Given the description of an element on the screen output the (x, y) to click on. 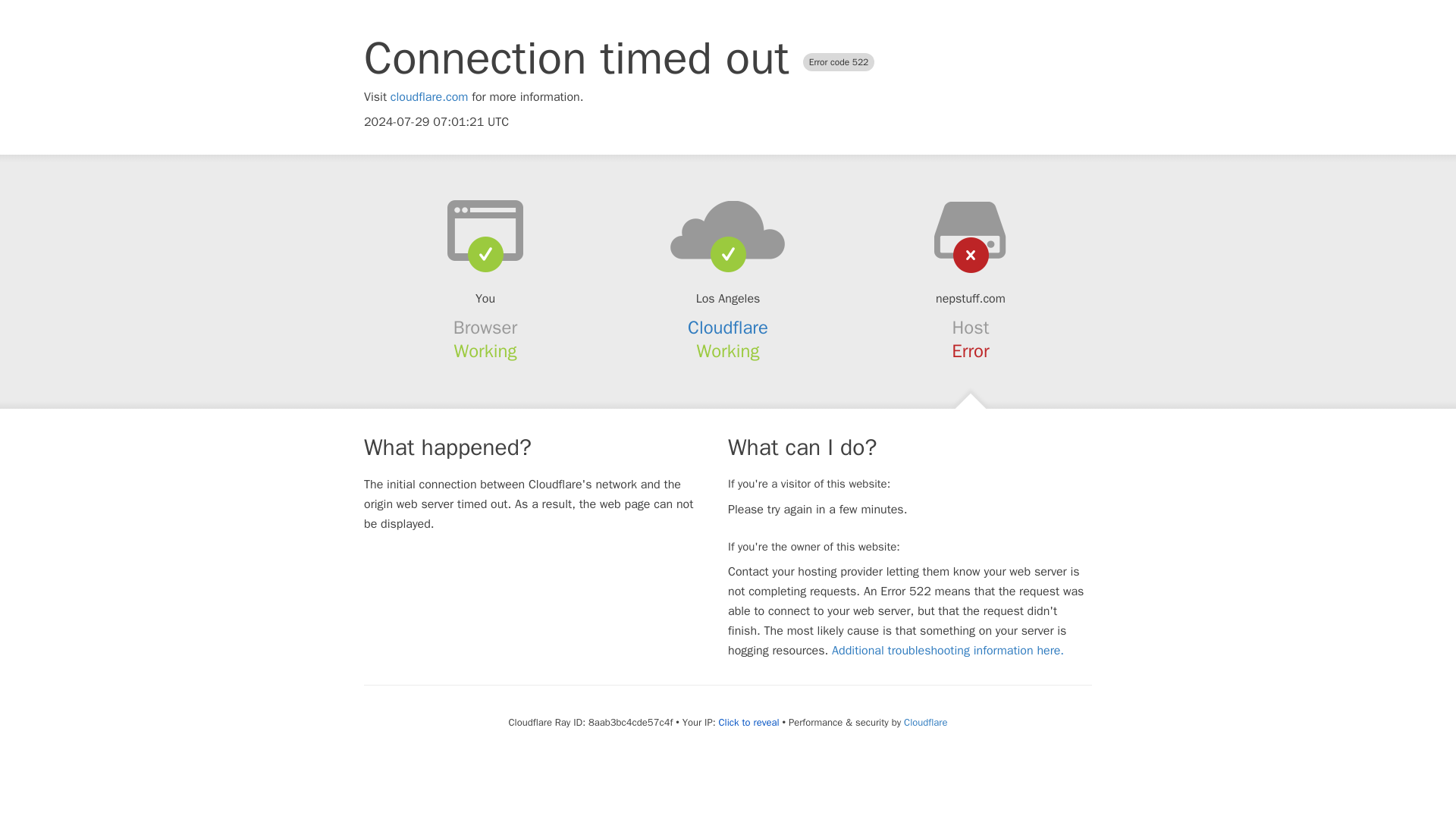
Cloudflare (727, 327)
cloudflare.com (429, 96)
Cloudflare (925, 721)
Additional troubleshooting information here. (947, 650)
Click to reveal (748, 722)
